Given the description of an element on the screen output the (x, y) to click on. 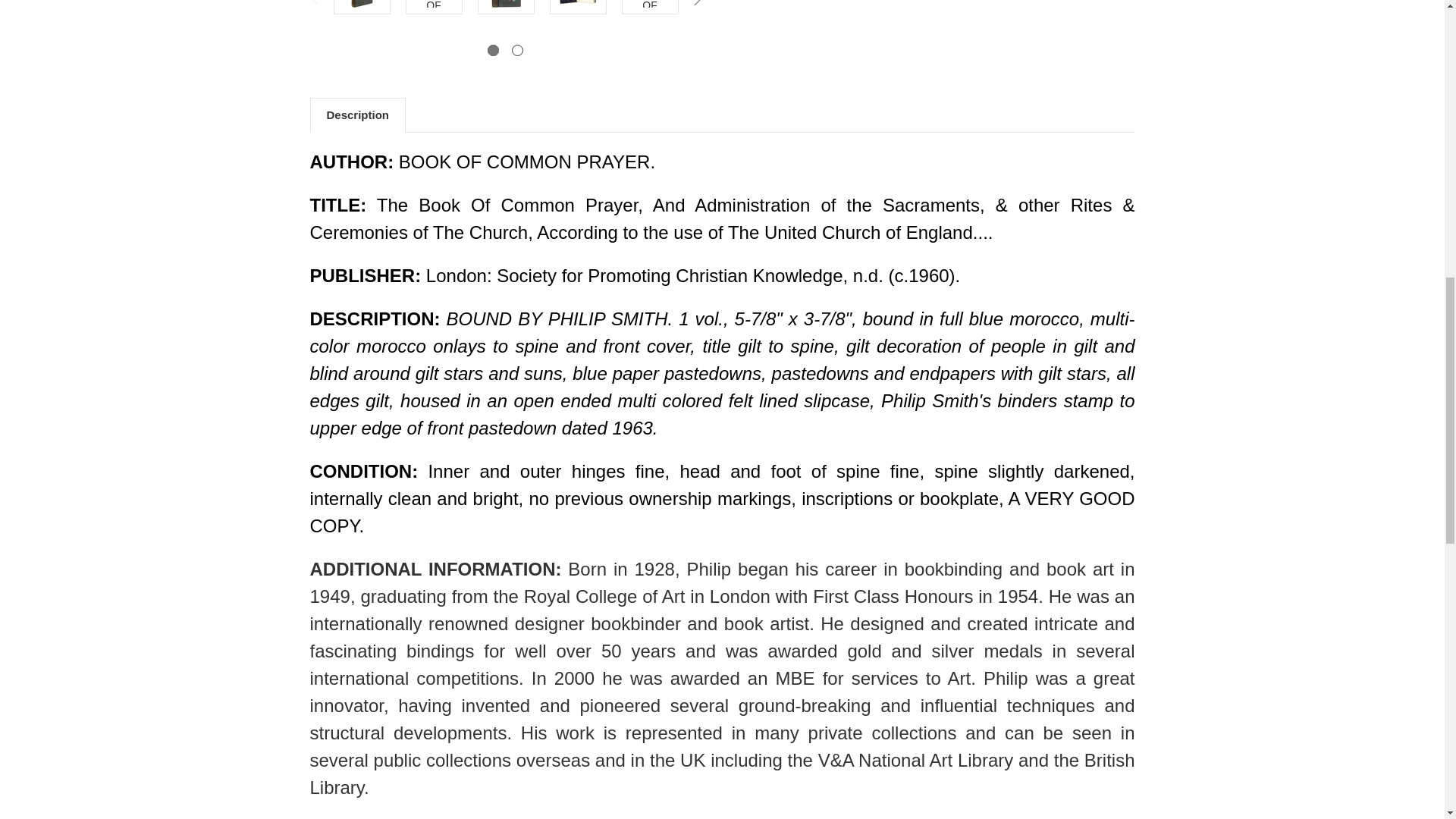
Previous (310, 7)
1 (493, 50)
2 (517, 50)
Next (700, 7)
